Given the description of an element on the screen output the (x, y) to click on. 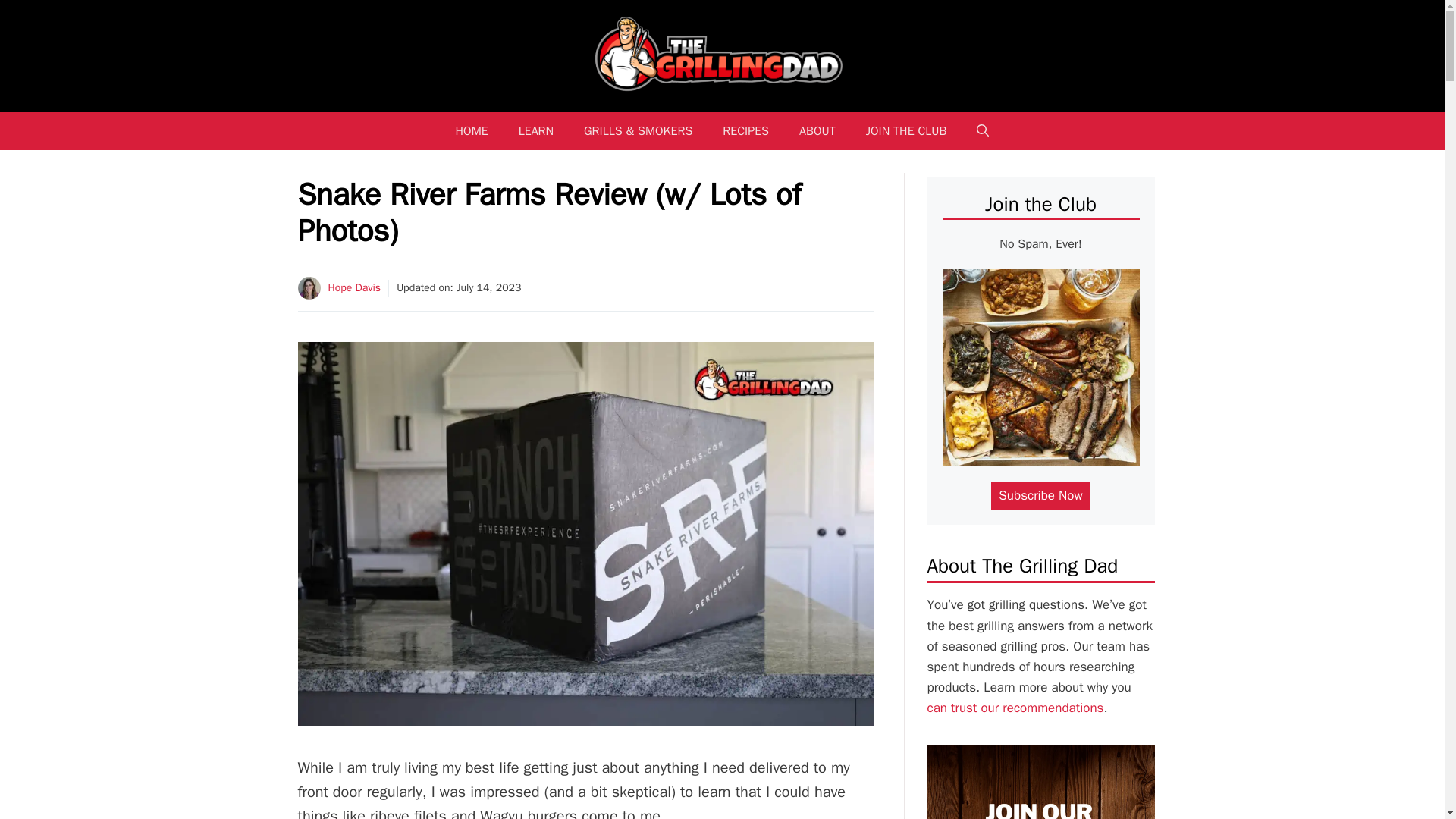
LEARN (536, 130)
ABOUT (817, 130)
RECIPES (745, 130)
JOIN THE CLUB (906, 130)
Hope Davis (353, 287)
HOME (472, 130)
